Given the description of an element on the screen output the (x, y) to click on. 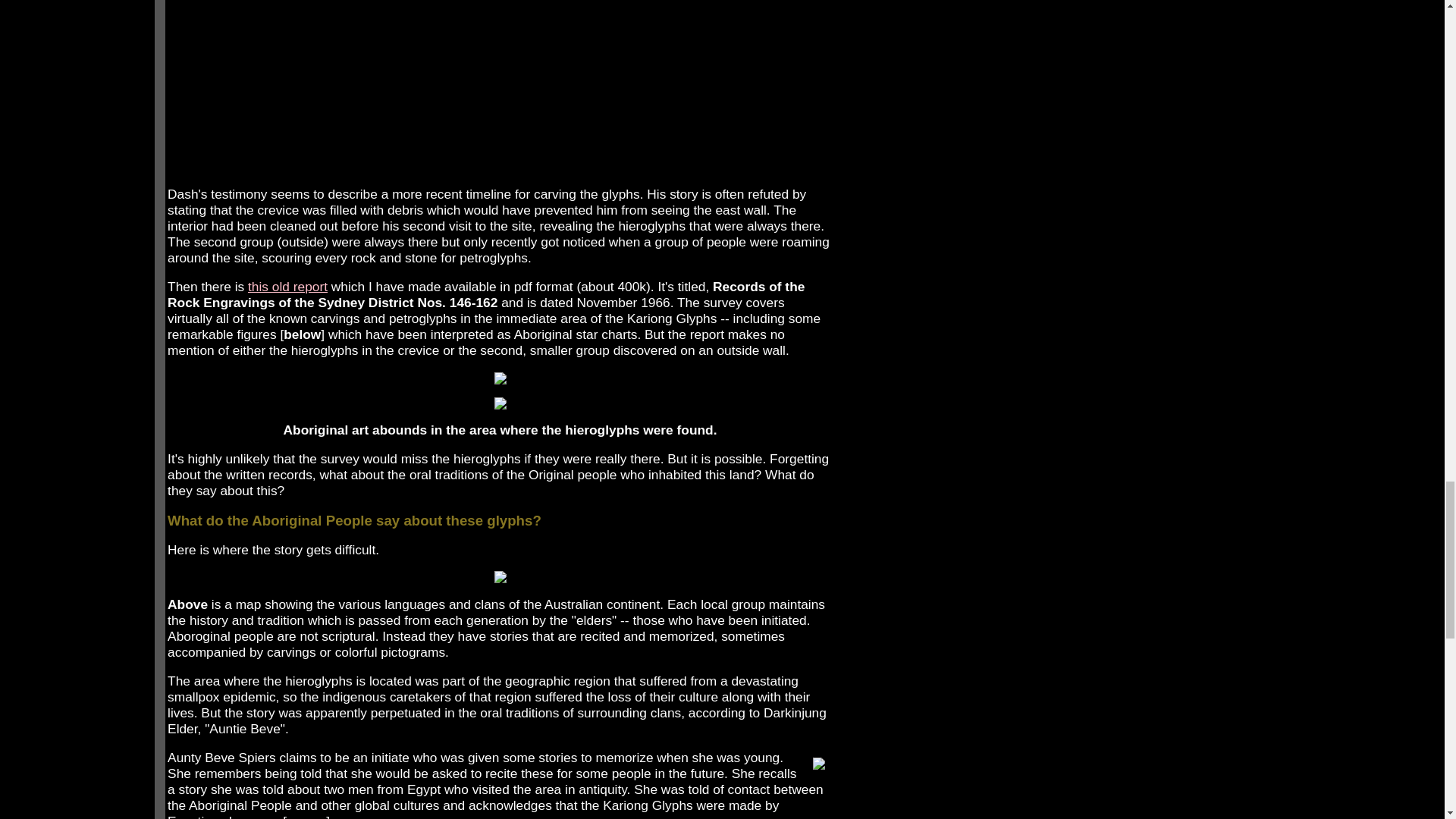
this old report (287, 286)
source (306, 816)
